Given the description of an element on the screen output the (x, y) to click on. 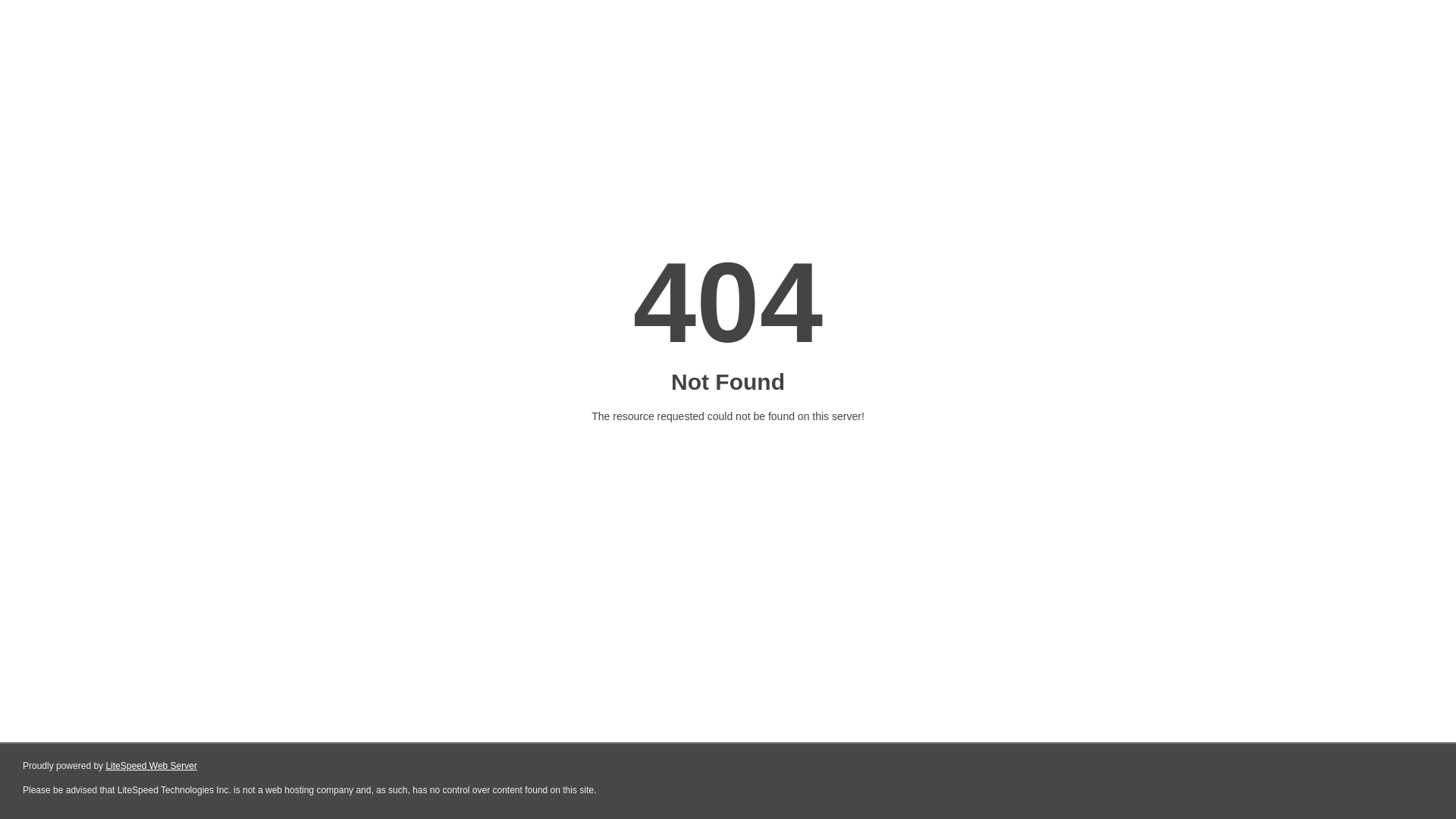
LiteSpeed Web Server Element type: text (151, 765)
